Given the description of an element on the screen output the (x, y) to click on. 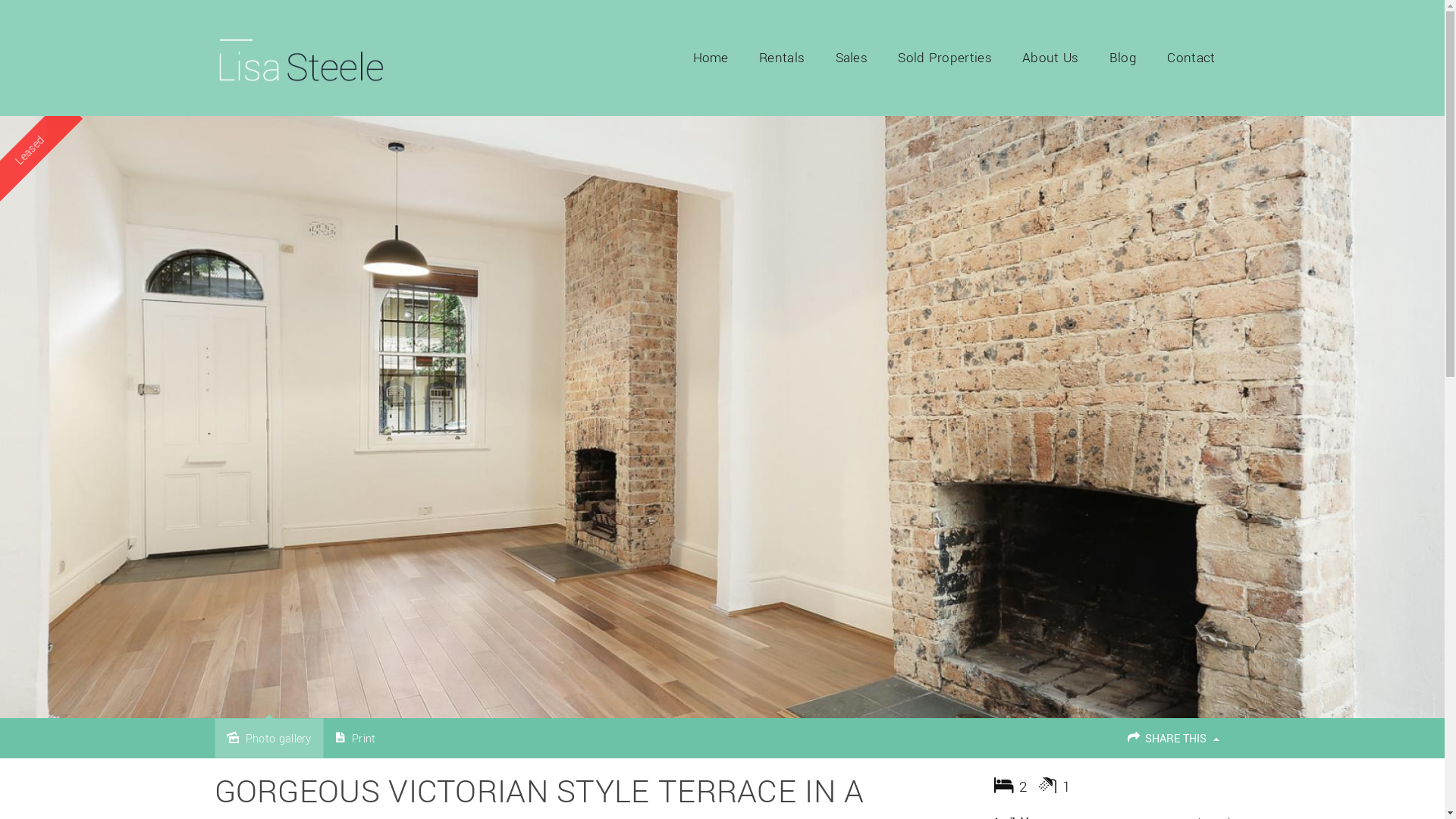
Sales Element type: text (851, 57)
Lisa Steele Real Estate Element type: hover (299, 57)
Photo gallery Element type: text (268, 738)
Blog Element type: text (1122, 57)
Sold Properties Element type: text (944, 57)
About Us Element type: text (1050, 57)
Rentals Element type: text (781, 57)
Contact Element type: text (1190, 57)
Home Element type: text (710, 57)
Print Element type: text (355, 738)
SHARE THIS Element type: text (1172, 738)
